Given the description of an element on the screen output the (x, y) to click on. 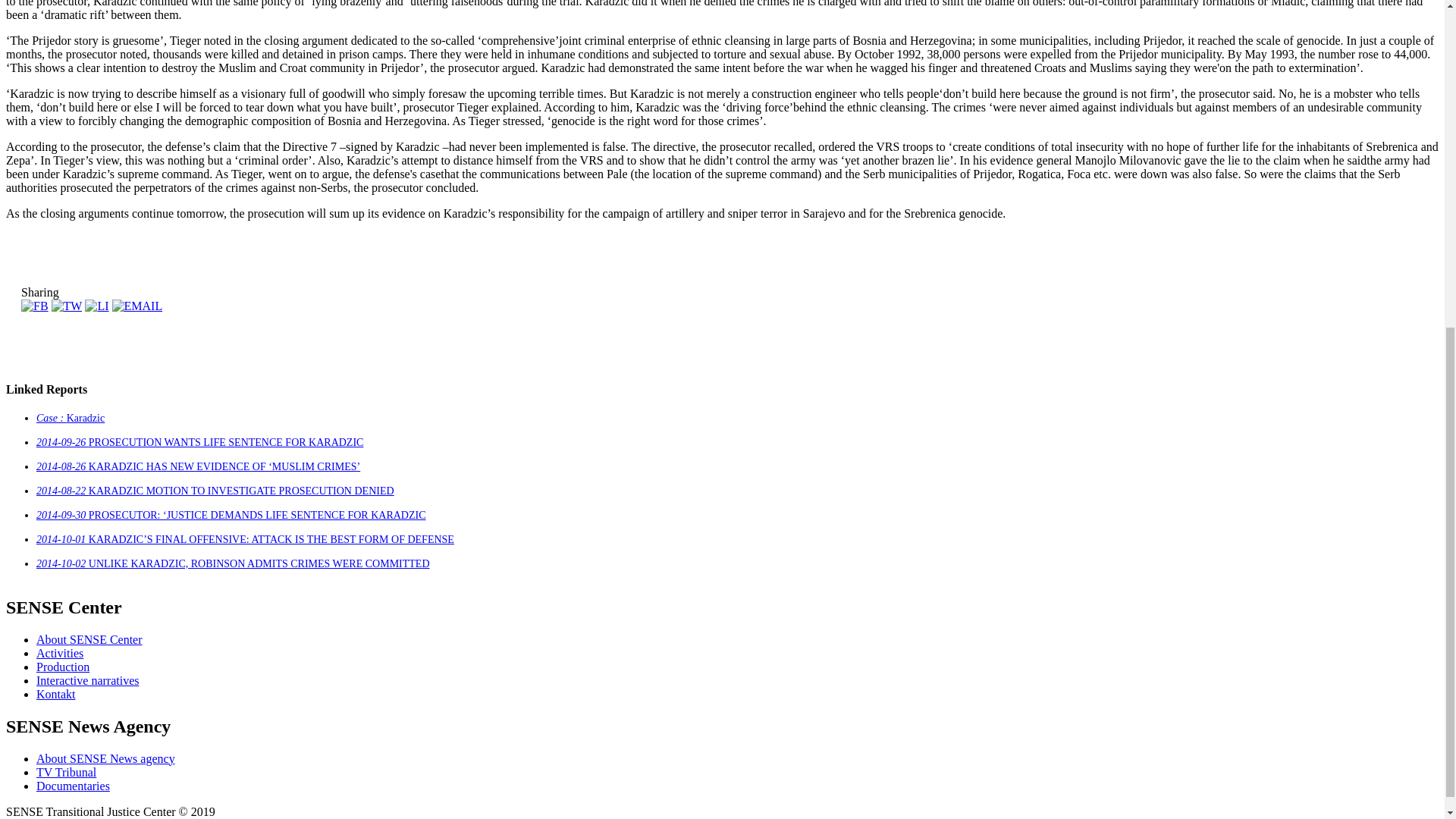
2014-09-26 PROSECUTION WANTS LIFE SENTENCE FOR KARADZIC (473, 583)
Case : Karadzic (339, 553)
2014-08-22 KARADZIC MOTION TO INVESTIGATE PROSECUTION DENIED (486, 644)
